Given the description of an element on the screen output the (x, y) to click on. 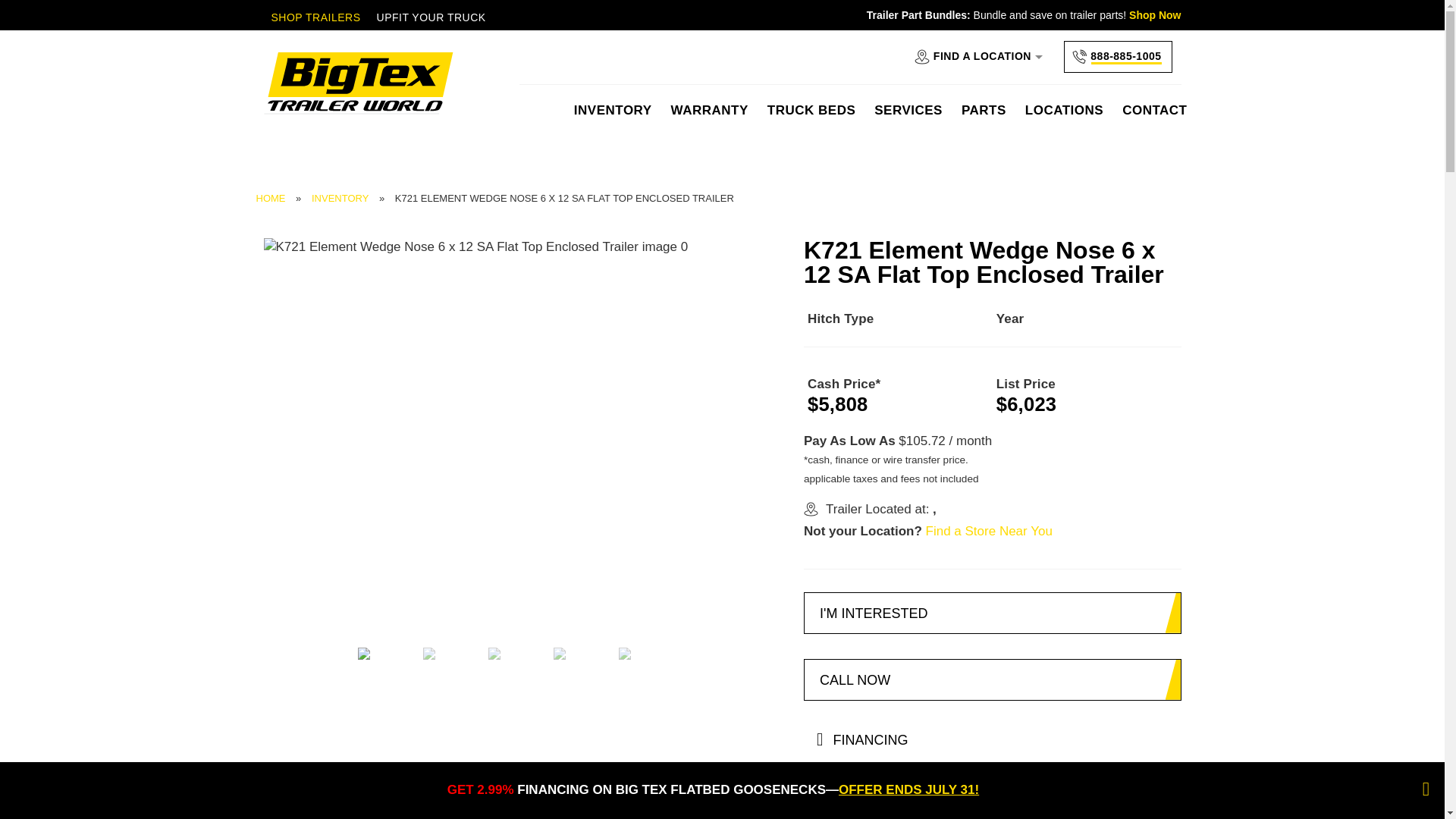
SERVICES (908, 117)
WARRANTY (709, 117)
FIND A LOCATION (974, 56)
topbar-location (810, 509)
Shop Now (1154, 15)
BigTexTrailerWorld-logo (357, 83)
888-885-1005 (1112, 56)
TRUCK BEDS (811, 117)
INVENTORY (612, 117)
SHOP TRAILERS (315, 17)
UPFIT YOUR TRUCK (431, 17)
